Given the description of an element on the screen output the (x, y) to click on. 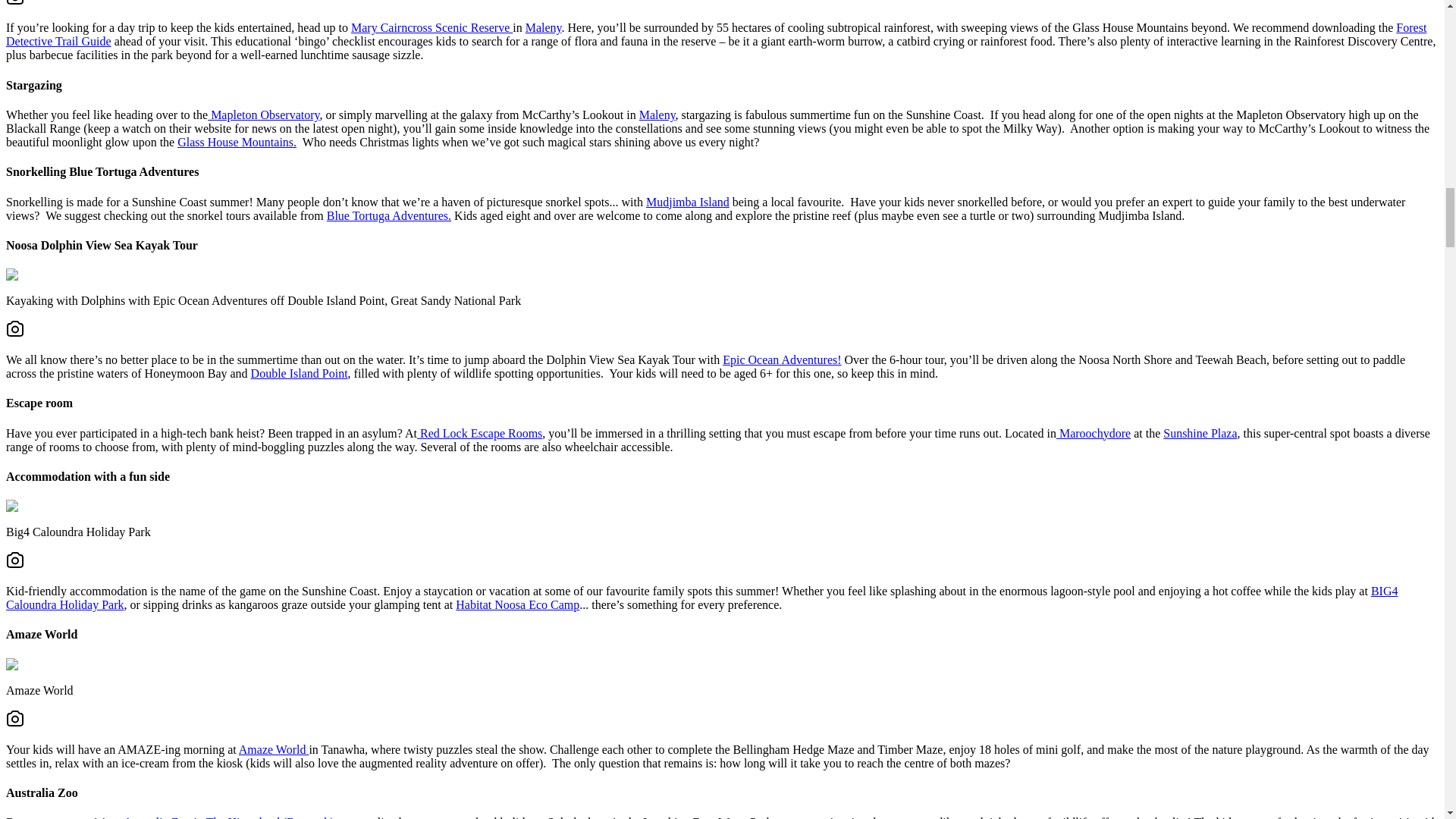
Australia Zoo (156, 817)
Mapleton Observatory (263, 114)
Maleny (543, 27)
View more information (715, 34)
Mary Cairncross Scenic Reserve (431, 27)
View more information (431, 27)
View more information (478, 432)
Double Island Point (298, 373)
Sunshine Plaza (1199, 432)
View more information (781, 359)
Red Lock Escape Rooms (478, 432)
BIG4 Caloundra Holiday Park (701, 597)
Blue Tortuga Adventures. (388, 215)
View more information (687, 201)
View more information (263, 114)
